Given the description of an element on the screen output the (x, y) to click on. 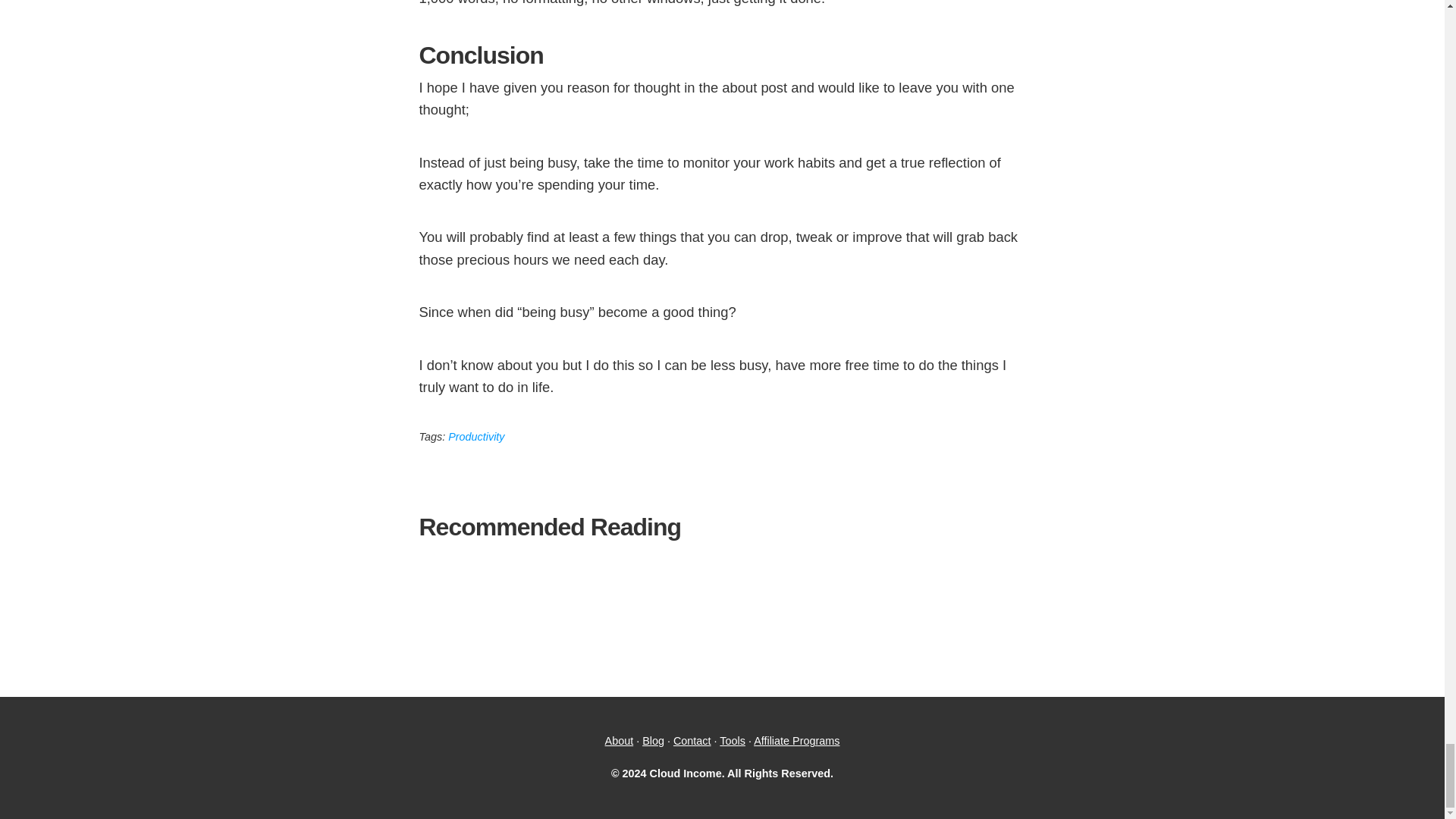
Blog (652, 740)
About (619, 740)
Contact (691, 740)
Affiliate Programs (797, 740)
Productivity (475, 436)
Tools (732, 740)
